Given the description of an element on the screen output the (x, y) to click on. 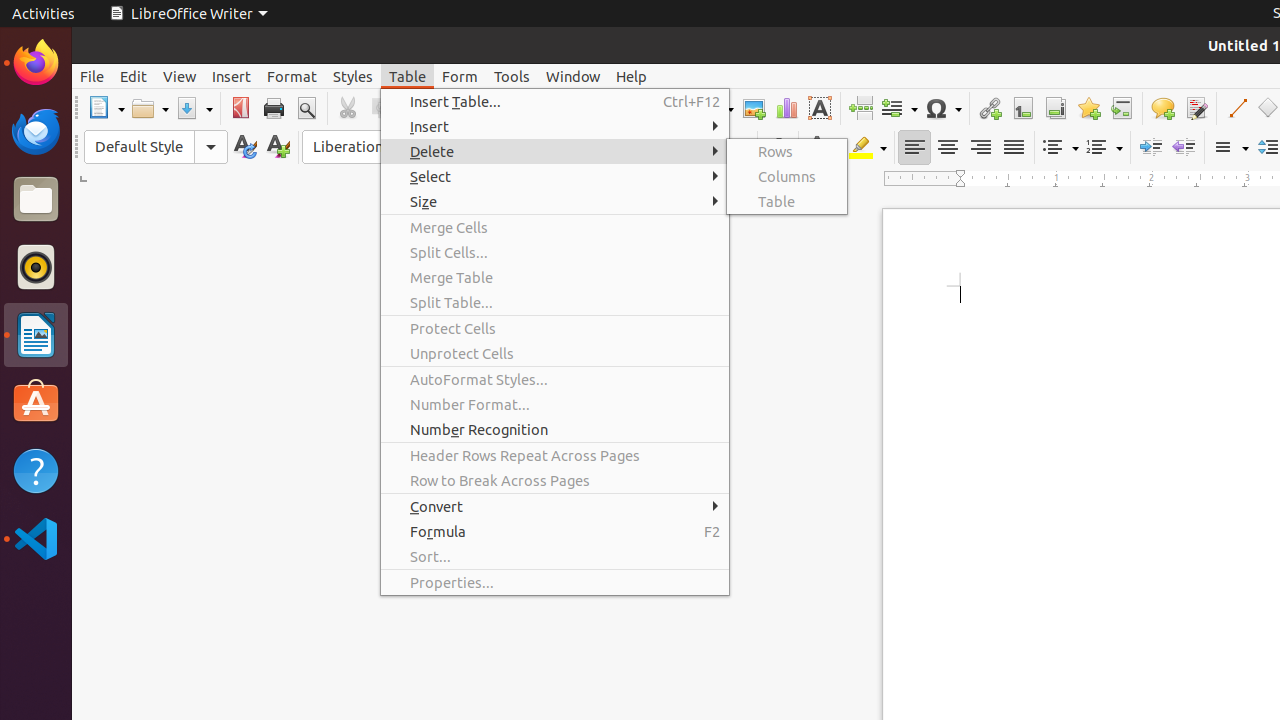
Thunderbird Mail Element type: push-button (36, 131)
Unprotect Cells Element type: menu-item (555, 353)
Window Element type: menu (573, 76)
Styles Element type: menu (353, 76)
Visual Studio Code Element type: push-button (36, 538)
